Given the description of an element on the screen output the (x, y) to click on. 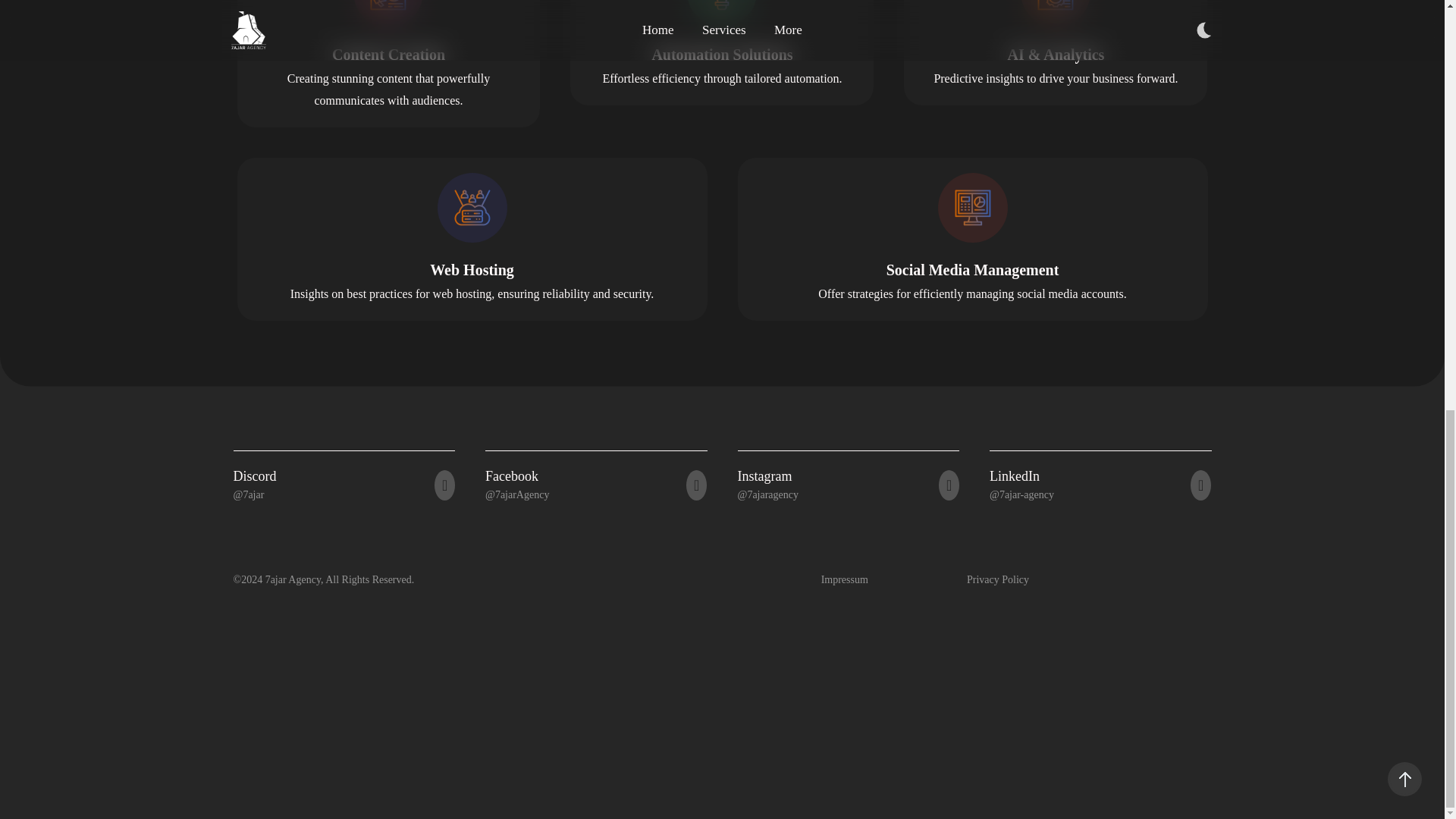
Impressum (844, 579)
Discord (254, 476)
Let's Talk (815, 353)
Facebook (511, 476)
Instagram (764, 476)
LinkedIn (1014, 476)
Privacy Policy (997, 579)
